Given the description of an element on the screen output the (x, y) to click on. 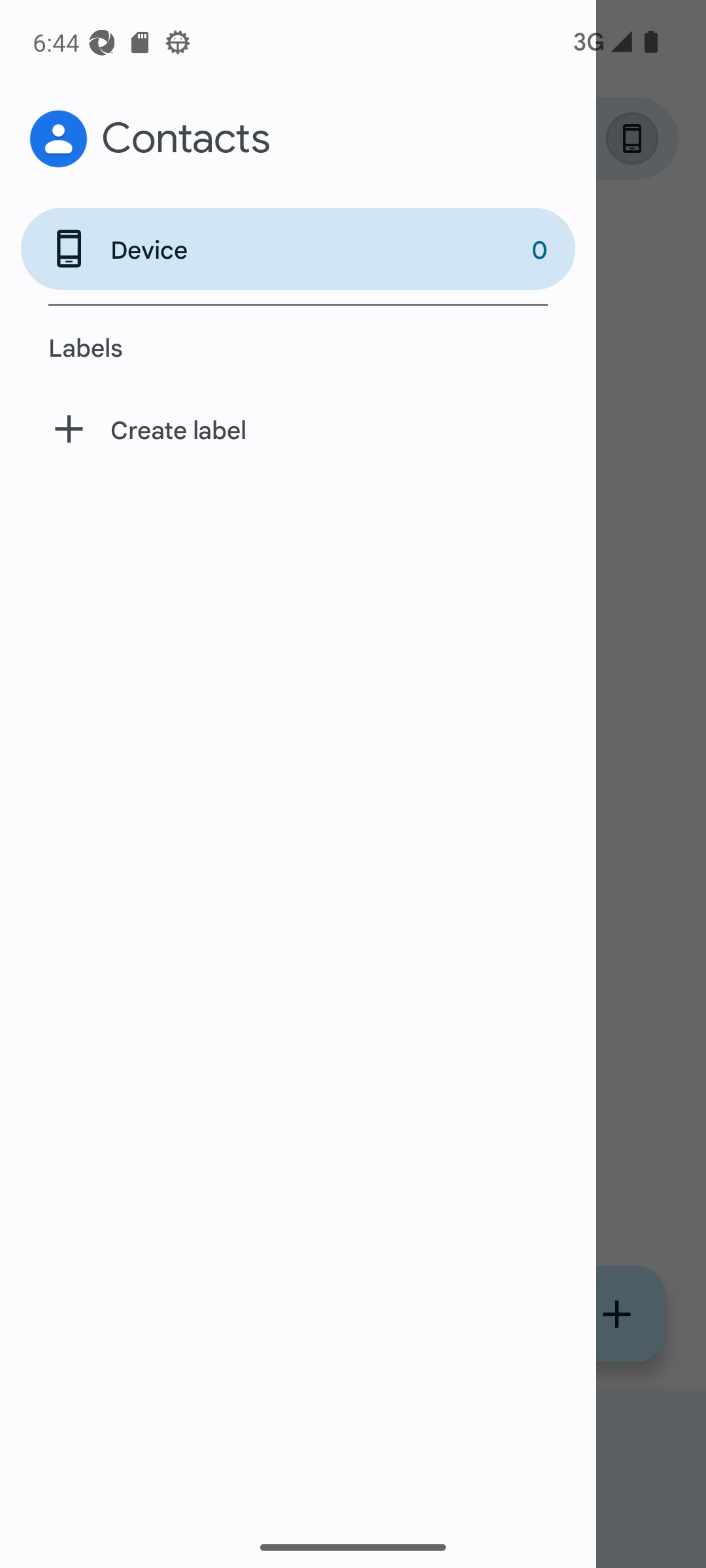
Open navigation drawer (75, 138)
Device 0 (297, 248)
Create label (297, 429)
